Given the description of an element on the screen output the (x, y) to click on. 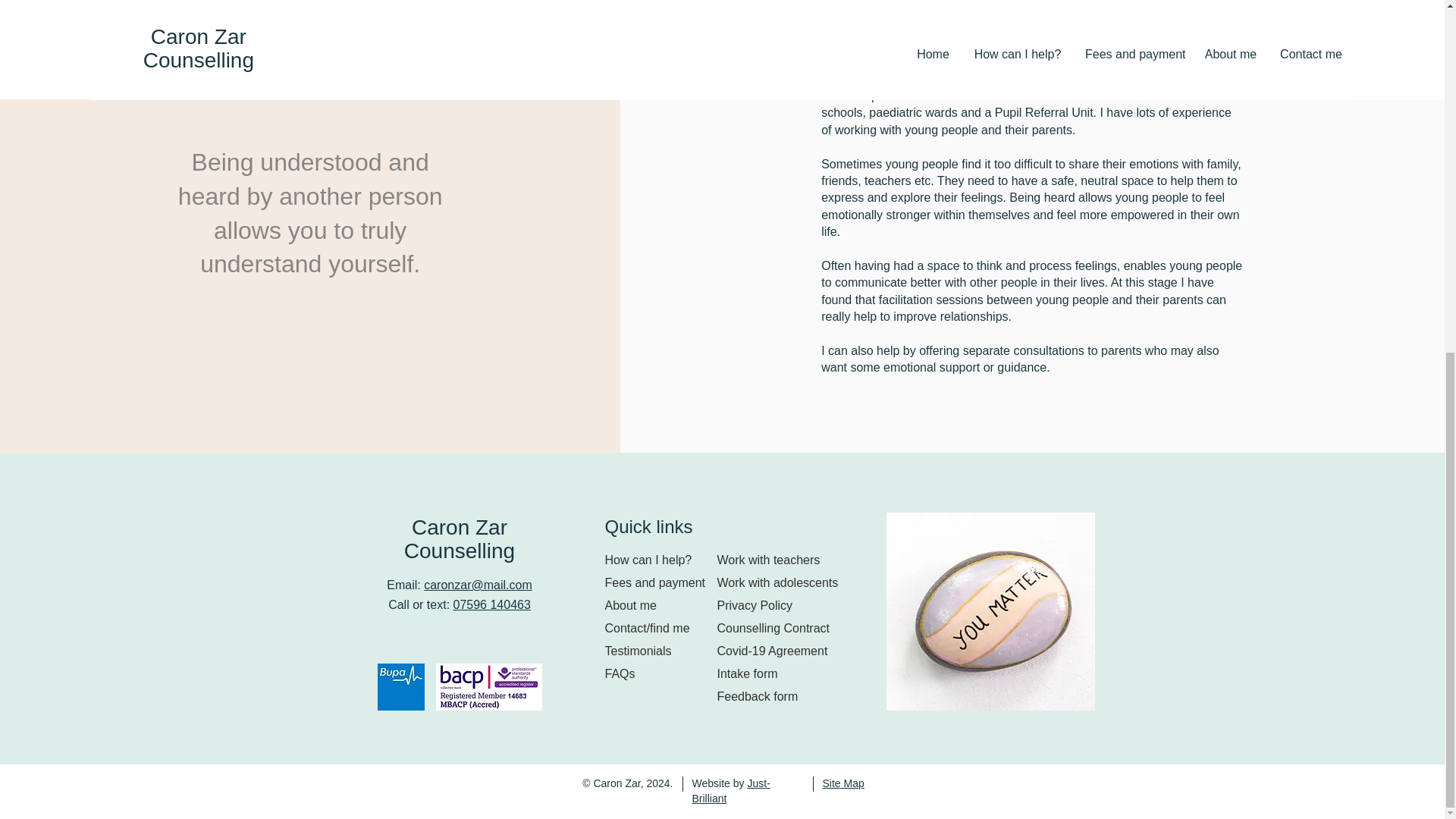
Work with adolescents (782, 582)
Feedback form (782, 696)
Fees and payment (658, 582)
Site Map (842, 783)
About me (658, 605)
FAQs (658, 673)
Testimonials (658, 650)
Privacy Policy (782, 605)
Just-Brilliant (730, 790)
Covid-19 Agreement (782, 650)
Counselling (459, 550)
Call or text: 07596 140463 (459, 604)
Intake form (782, 673)
Caron Zar (459, 526)
Work with teachers (782, 559)
